Given the description of an element on the screen output the (x, y) to click on. 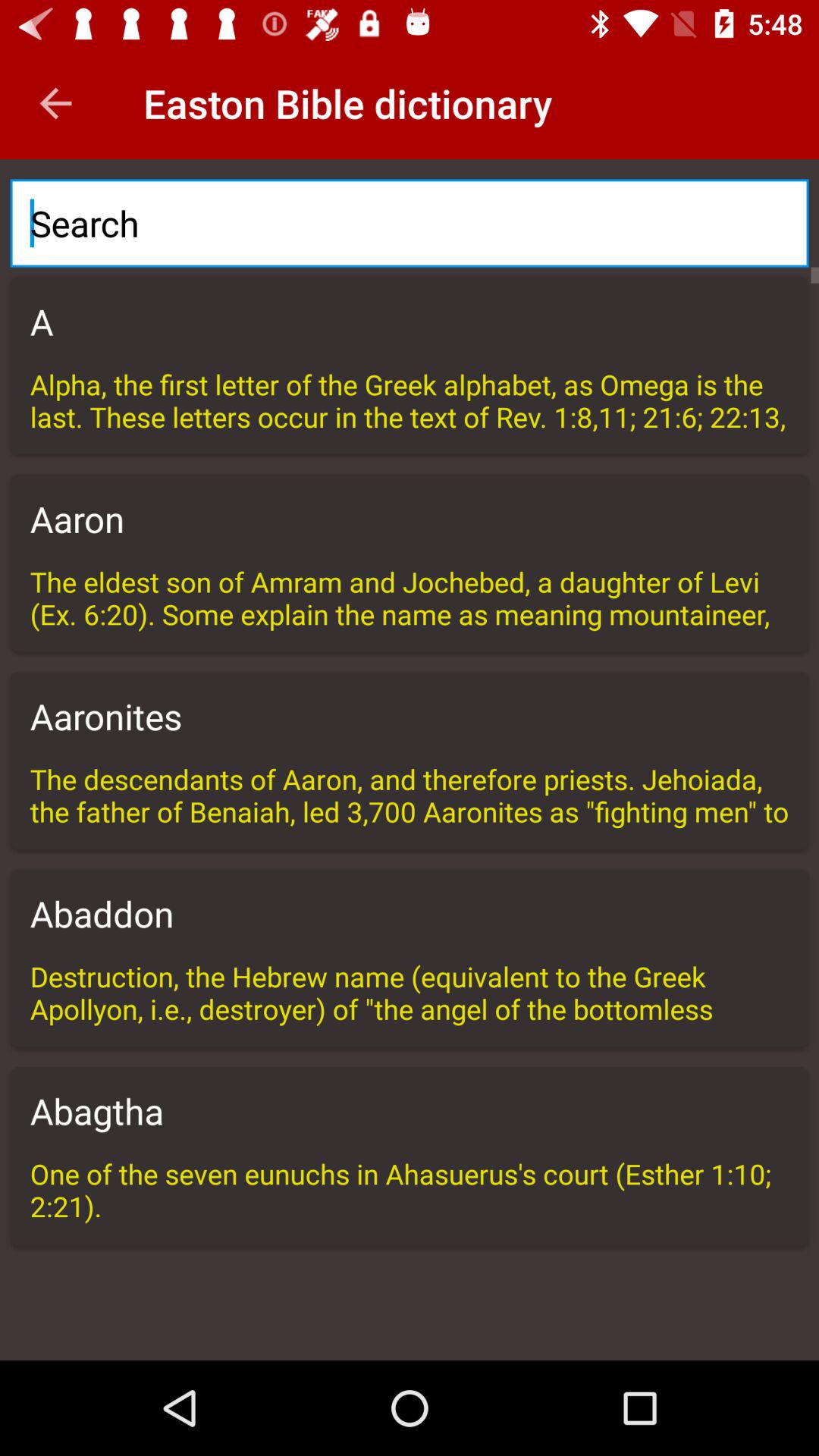
scroll until the abagtha icon (409, 1110)
